Given the description of an element on the screen output the (x, y) to click on. 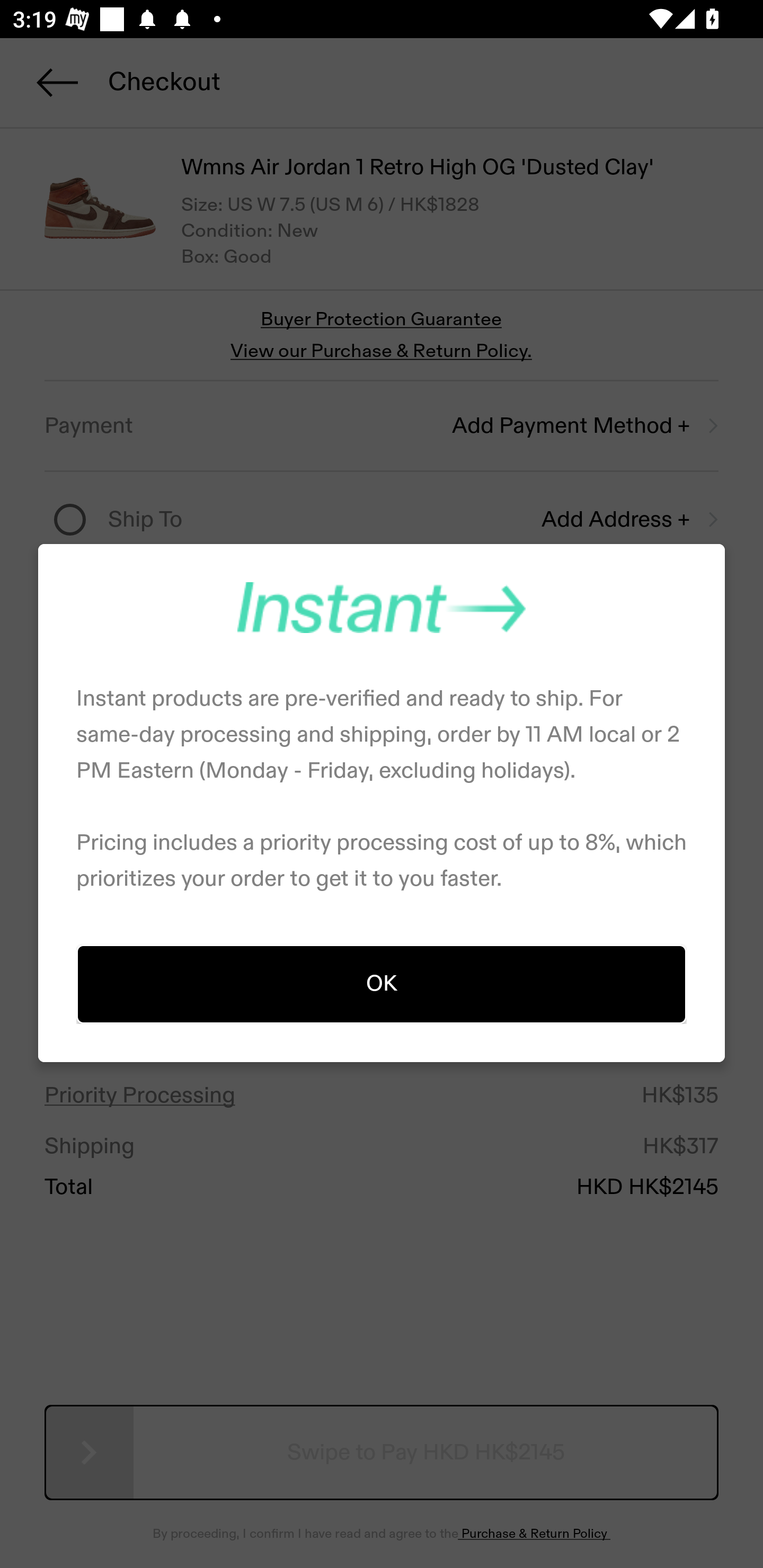
OK (381, 983)
